Given the description of an element on the screen output the (x, y) to click on. 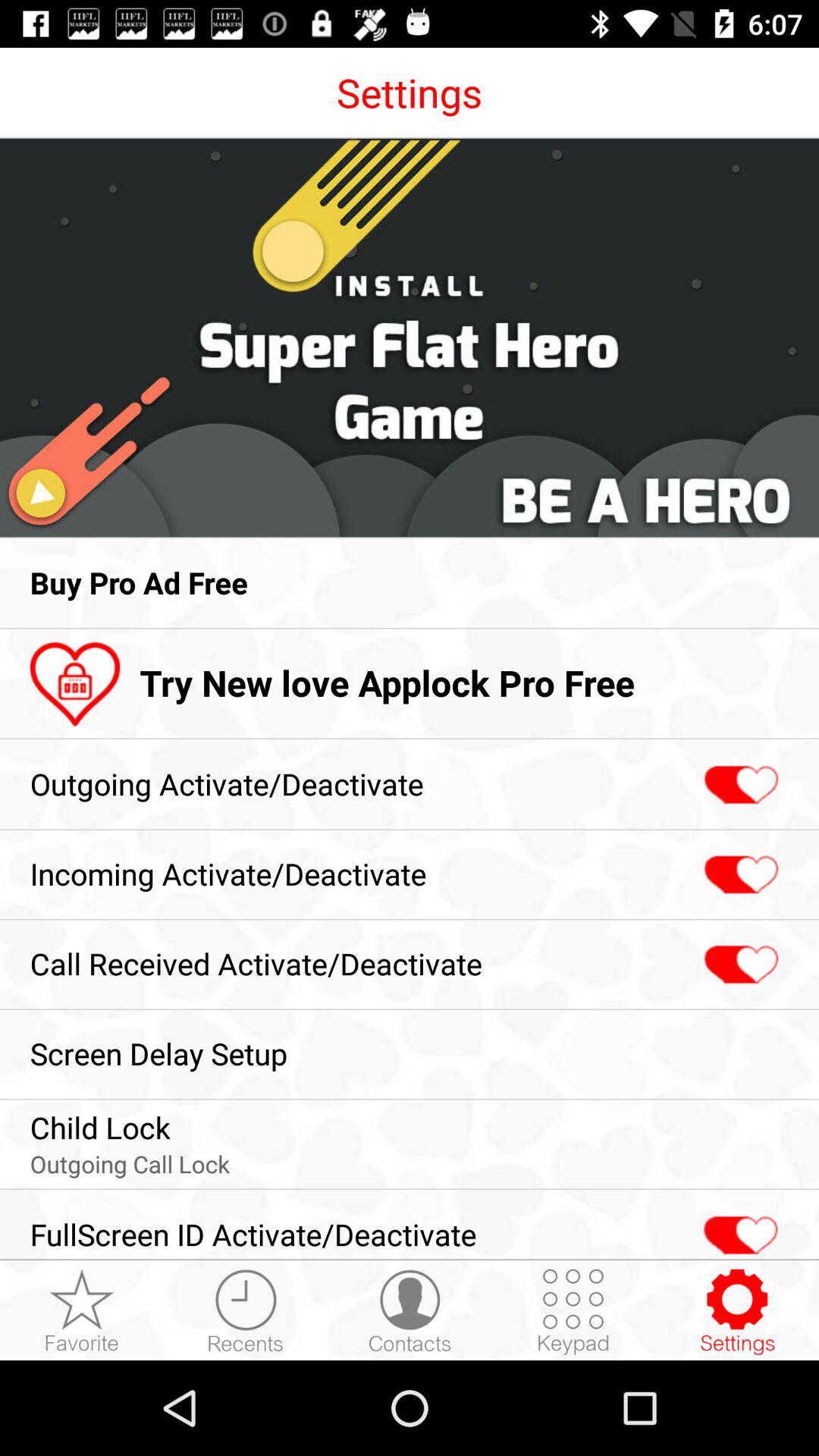
open settings (737, 1311)
